Given the description of an element on the screen output the (x, y) to click on. 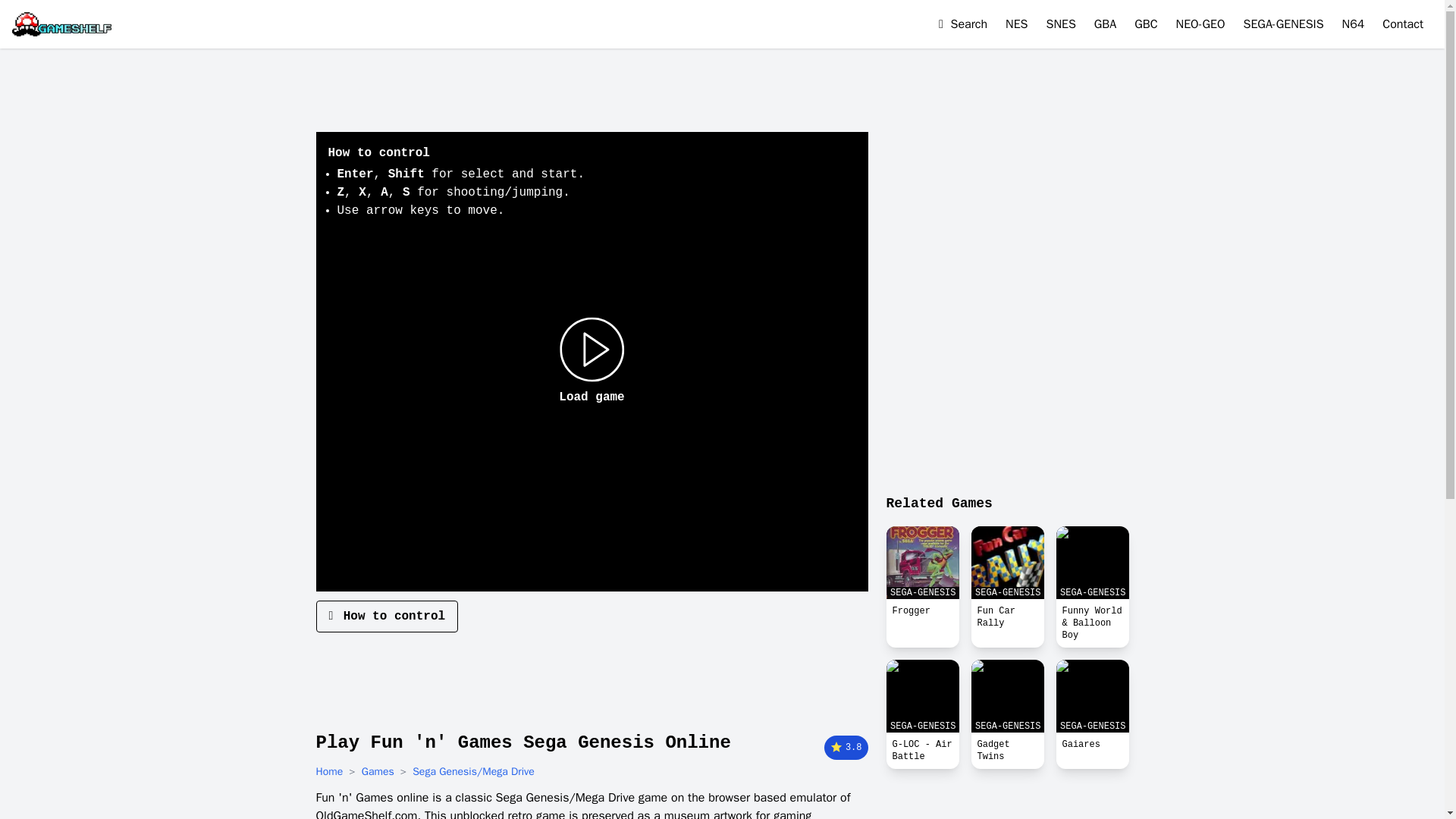
SEGA-GENESIS (1091, 562)
SNES (1060, 23)
Nintendo 64 (1353, 23)
SEGA-GENESIS (921, 562)
SEGA-GENESIS (1091, 696)
GBA (1105, 23)
GBC (1145, 23)
Homepage (61, 24)
Frogger (921, 610)
Games (377, 771)
N64 (1353, 23)
SEGA-GENESIS (921, 696)
Game Boy Advance (1105, 23)
SEGA-GENESIS (1283, 23)
Games (377, 771)
